Given the description of an element on the screen output the (x, y) to click on. 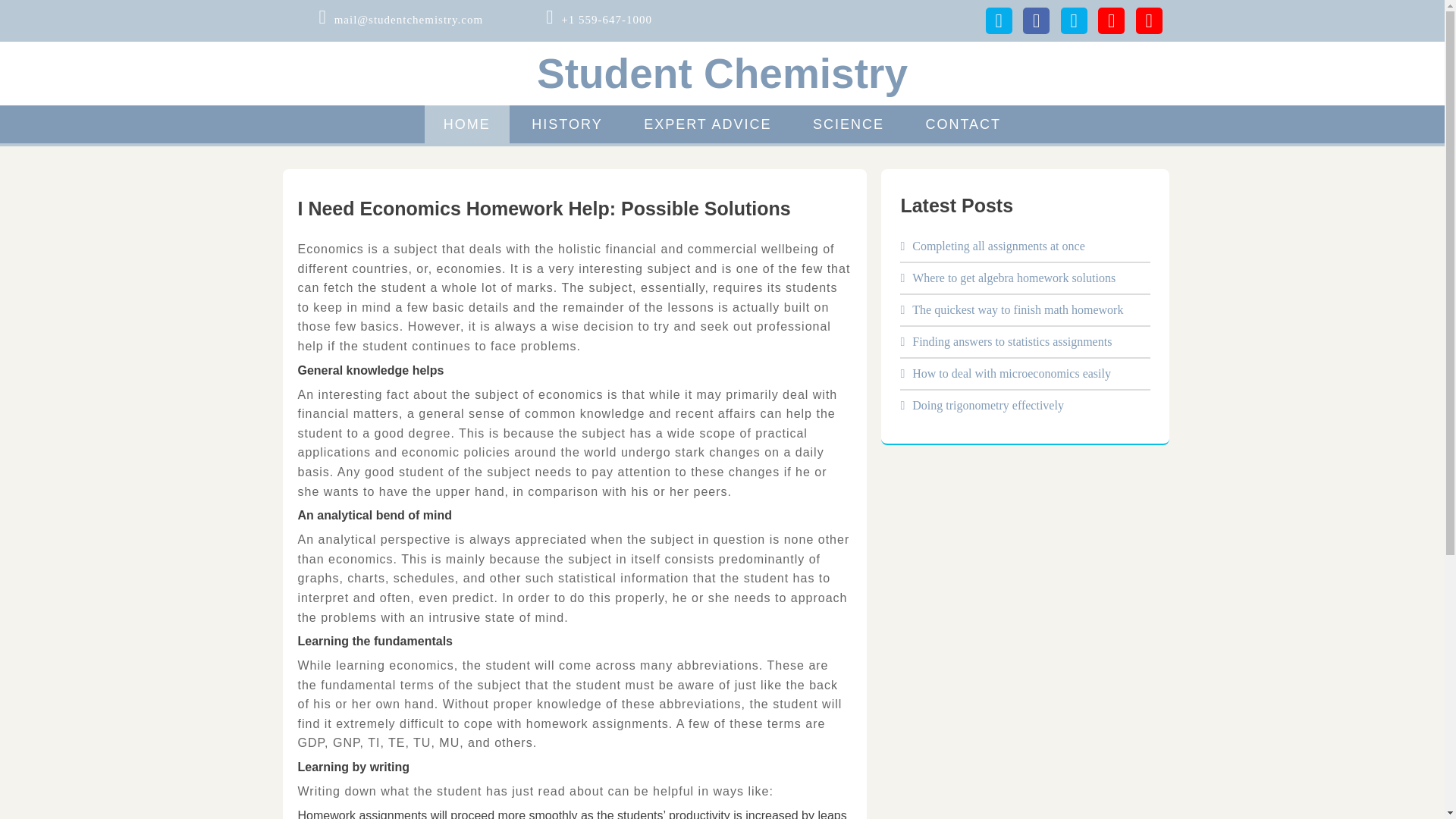
HISTORY (566, 124)
HOME (467, 124)
Student Chemistry (722, 73)
EXPERT ADVICE (707, 124)
